Given the description of an element on the screen output the (x, y) to click on. 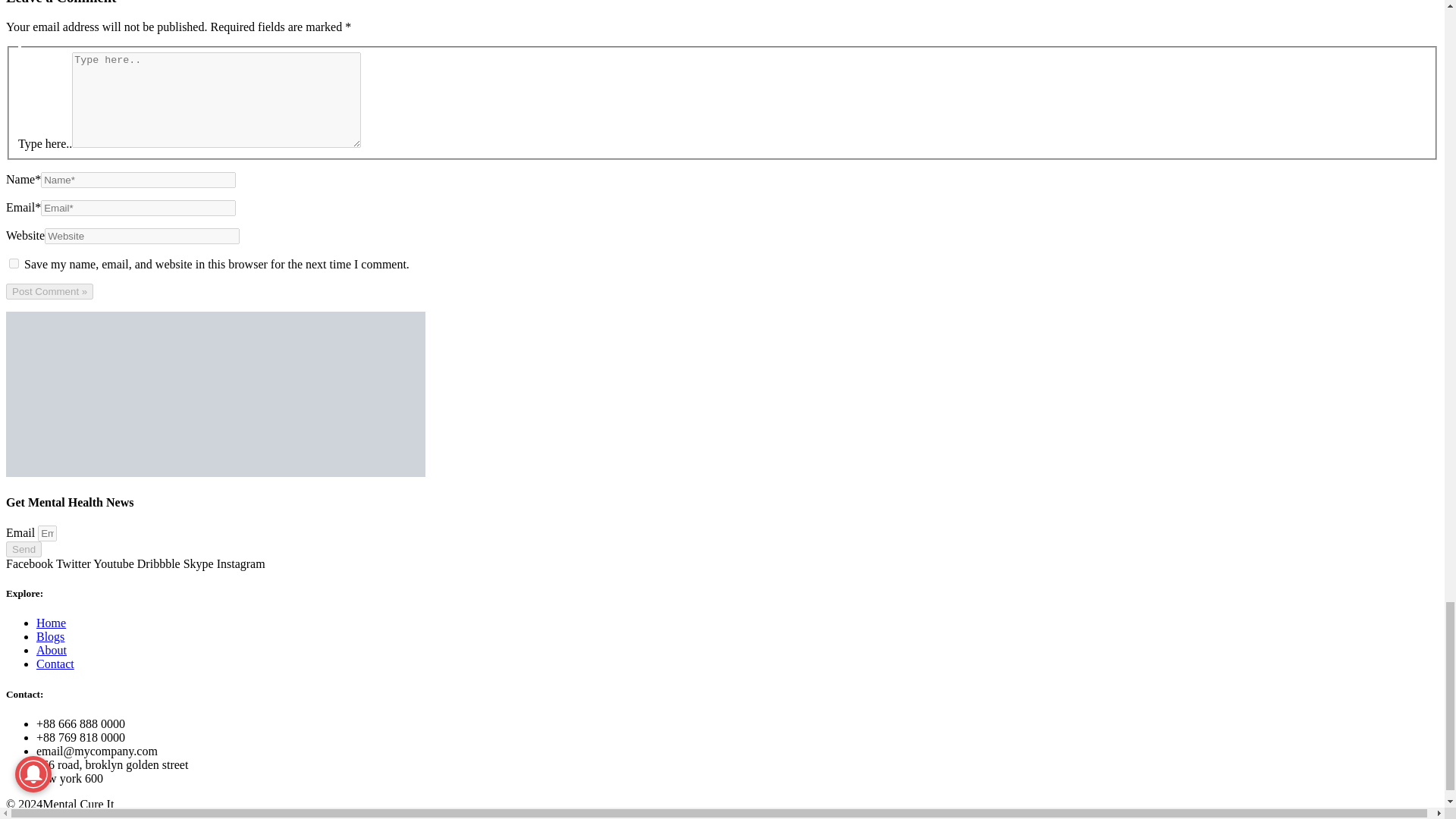
Skype (199, 563)
Twitter (74, 563)
Facebook (30, 563)
Dribbble (159, 563)
Youtube (114, 563)
yes (13, 263)
Instagram (240, 563)
Send (23, 549)
